Given the description of an element on the screen output the (x, y) to click on. 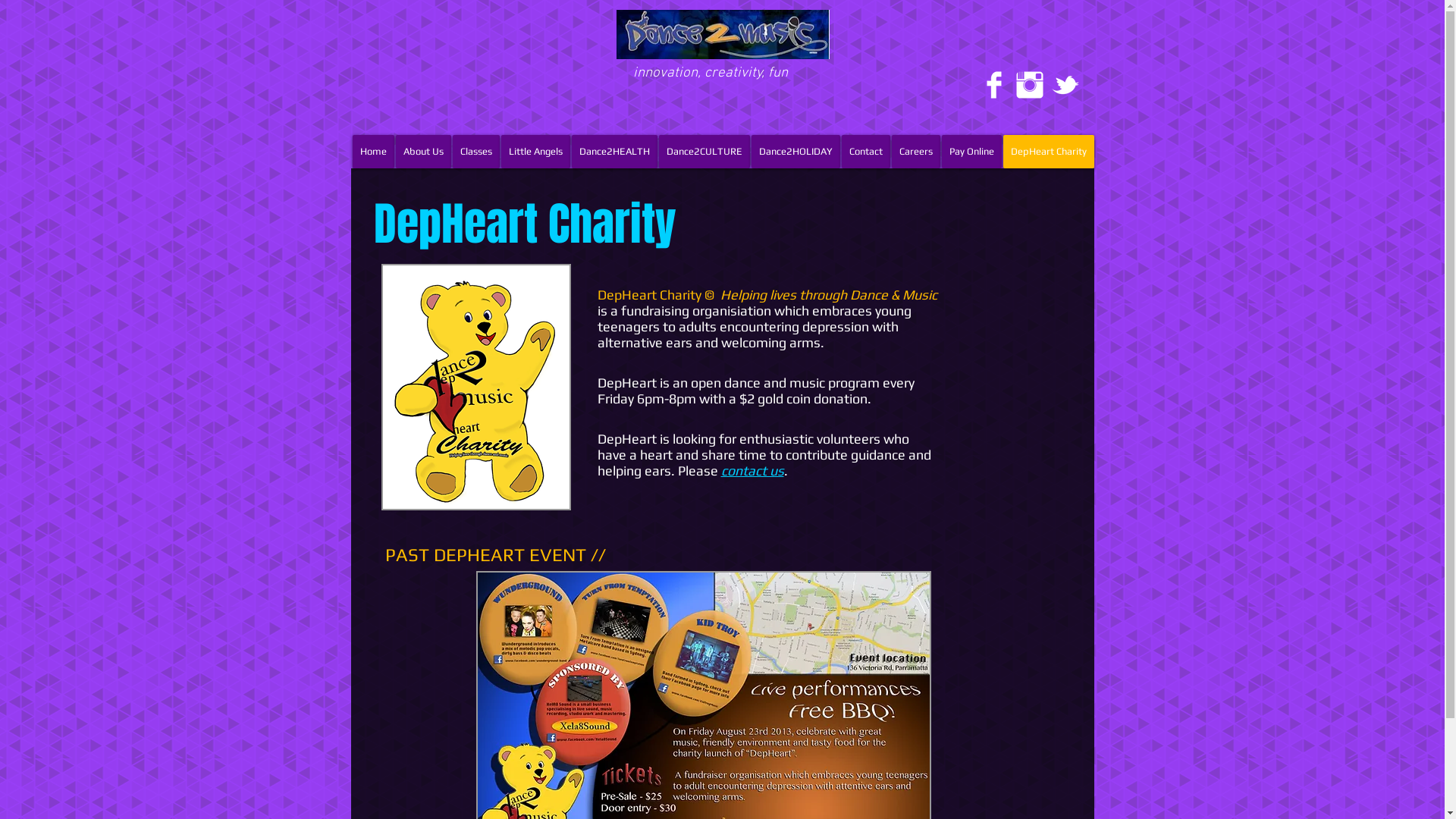
Facebook Like Element type: hover (940, 90)
Dance2HOLIDAY Element type: text (794, 151)
Dance2HEALTH Element type: text (614, 151)
Twitter Tweet Element type: hover (938, 116)
Careers Element type: text (915, 151)
Pay Online Element type: text (971, 151)
innovation, creativity, fun Element type: text (709, 72)
DepHeart Charity Element type: text (1047, 151)
Contact Element type: text (865, 151)
Classes Element type: text (474, 151)
contact us Element type: text (751, 470)
Home Element type: text (372, 151)
About Us Element type: text (423, 151)
Little Angels Element type: text (534, 151)
Dance2CULTURE Element type: text (703, 151)
Screen shot 2013-10-21 at 2.04.08 PM.png Element type: hover (475, 386)
